Given the description of an element on the screen output the (x, y) to click on. 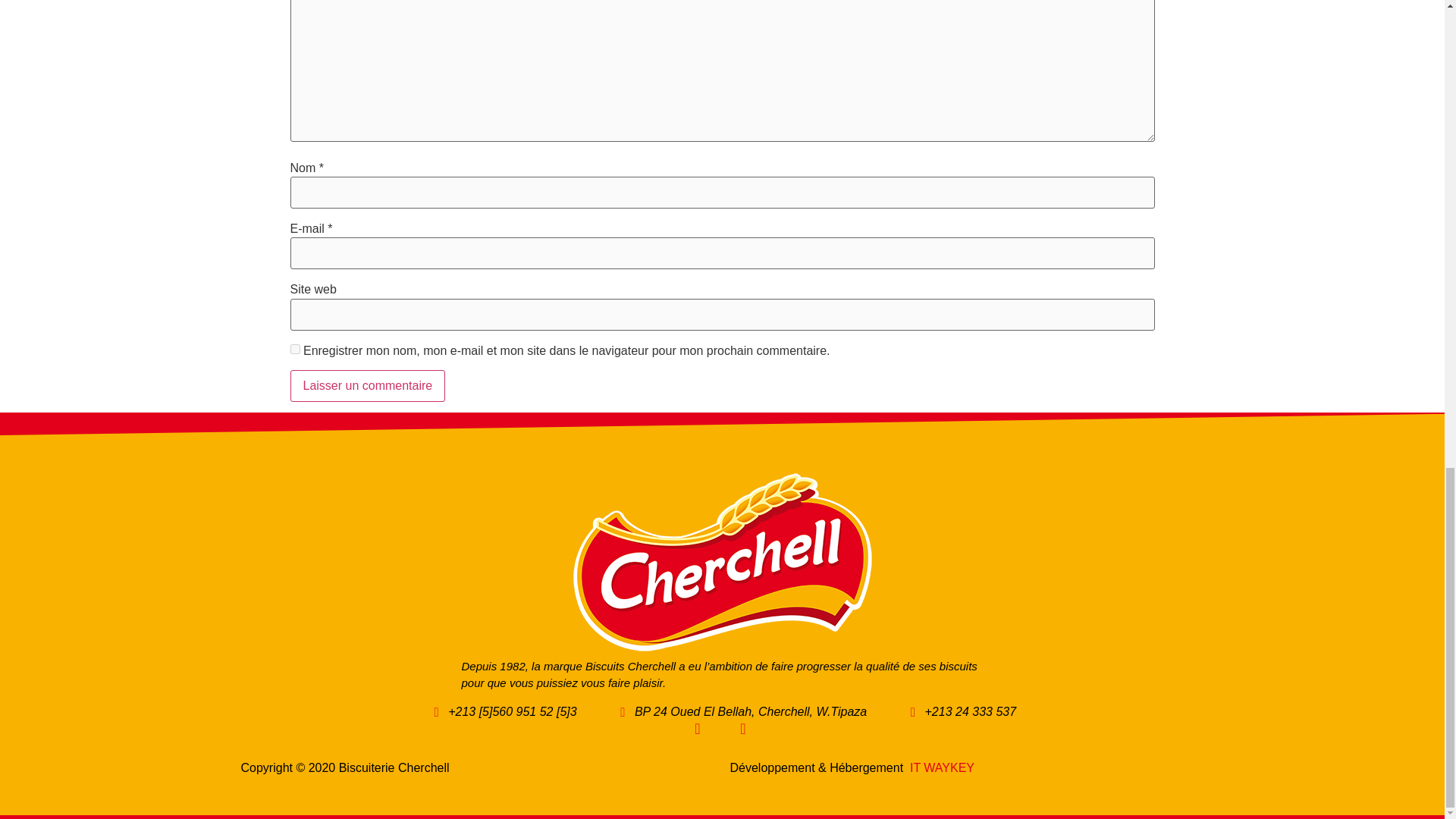
yes (294, 348)
Laisser un commentaire (367, 386)
Laisser un commentaire (367, 386)
IT WAYKEY (942, 767)
